Given the description of an element on the screen output the (x, y) to click on. 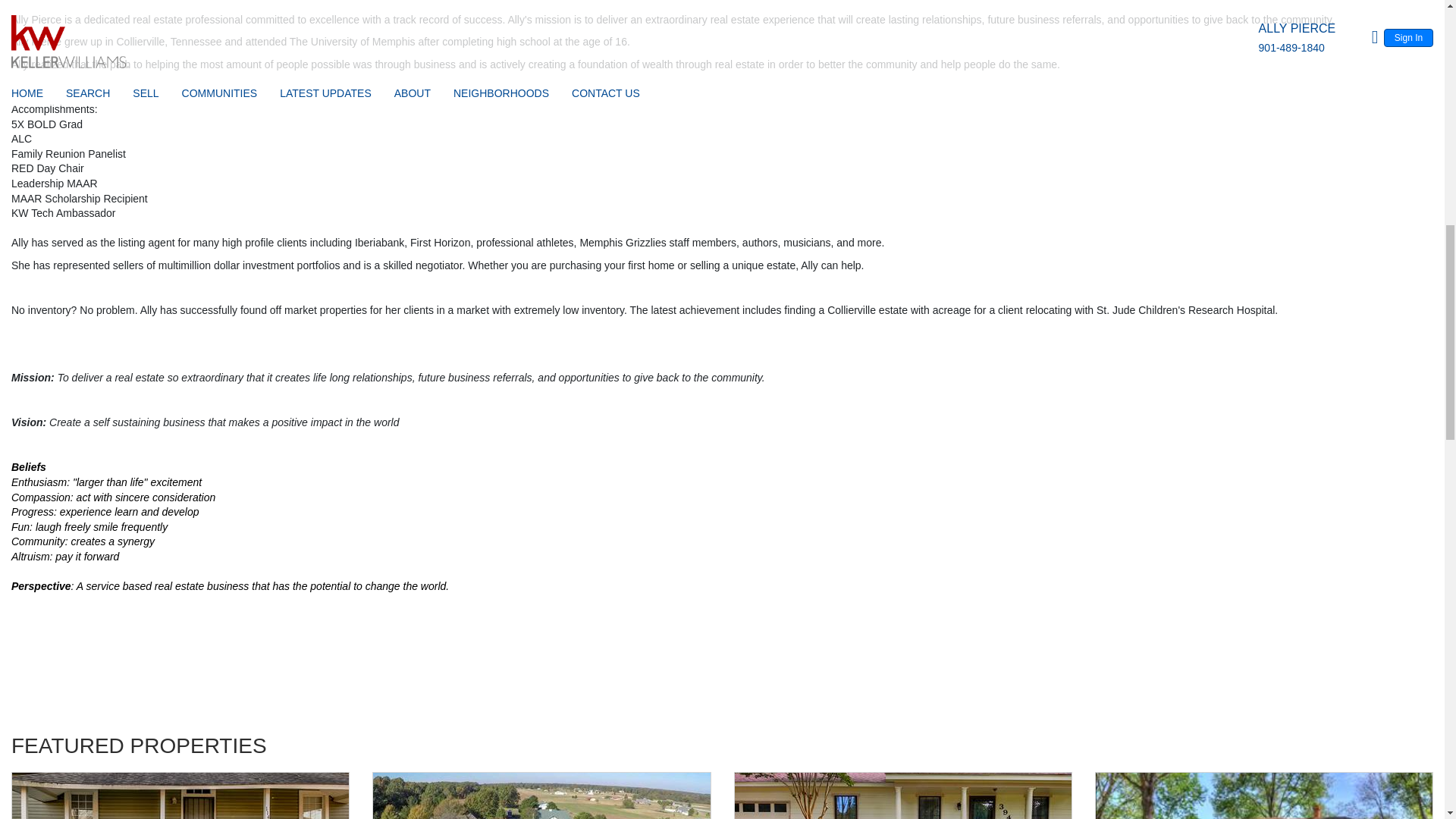
Featured Property (180, 795)
Featured Property (1263, 795)
Featured Property (902, 795)
Featured Property (541, 795)
